Given the description of an element on the screen output the (x, y) to click on. 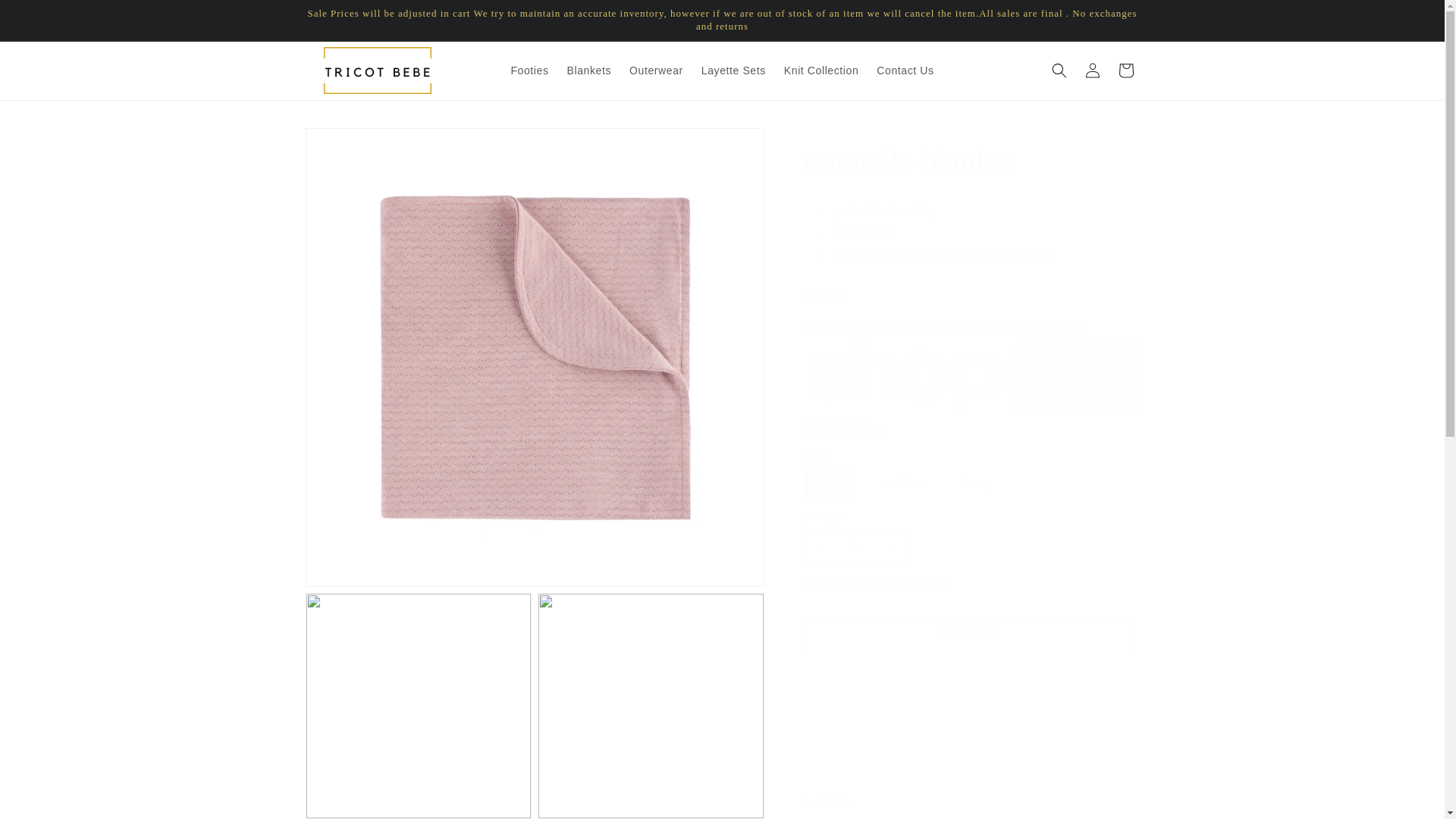
Open media 2 in modal (417, 705)
Blankets (589, 70)
Skip to product information (350, 144)
Skip to content (45, 17)
1 (856, 547)
Decrease quantity for Pointelle blanket (818, 547)
Contact Us (904, 70)
Log in (1091, 70)
